Given the description of an element on the screen output the (x, y) to click on. 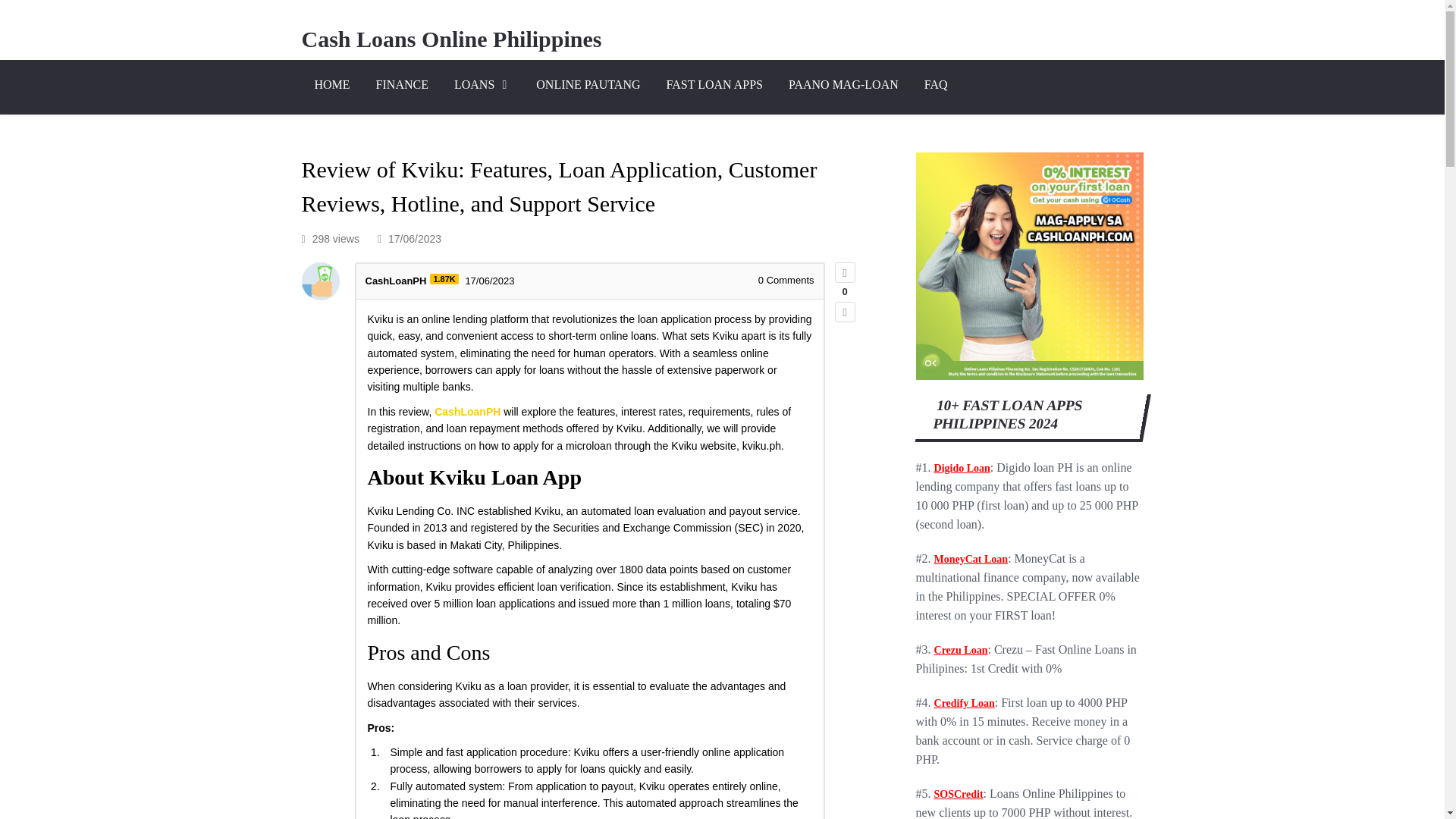
FAST LOAN APPS (714, 86)
FAQ (935, 86)
LOANS (481, 86)
Down vote this question (844, 312)
ONLINE PAUTANG (587, 86)
Cash Loans Online Philippines (451, 38)
Up vote this question (844, 272)
FINANCE (401, 86)
Reputation (443, 278)
PAANO MAG-LOAN (843, 86)
HOME (331, 86)
